Given the description of an element on the screen output the (x, y) to click on. 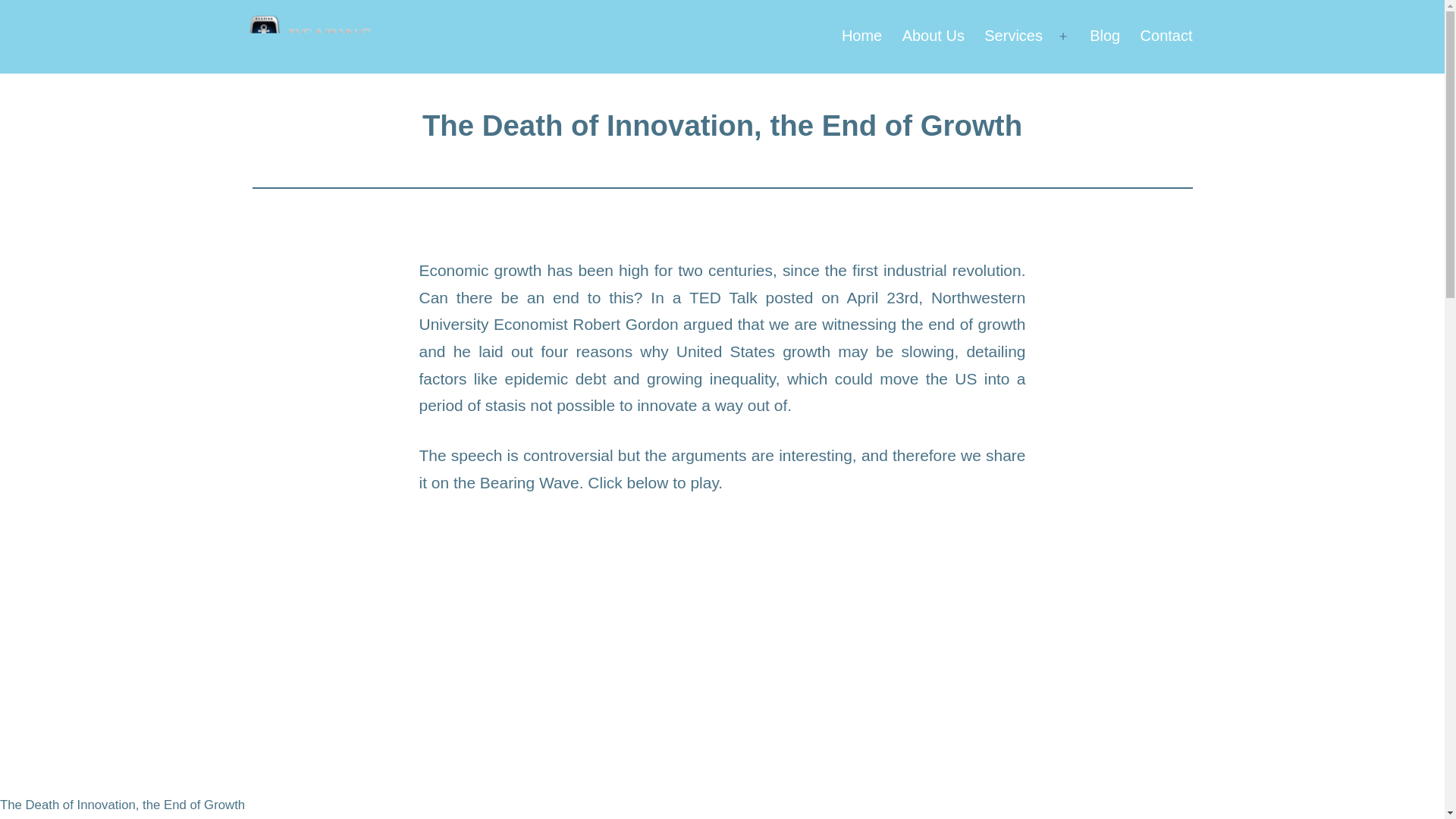
Services (1013, 36)
About Us (932, 36)
Robert Gordon (625, 323)
Home (861, 36)
Contact (1165, 36)
Open menu (1063, 36)
Blog (1104, 36)
